Given the description of an element on the screen output the (x, y) to click on. 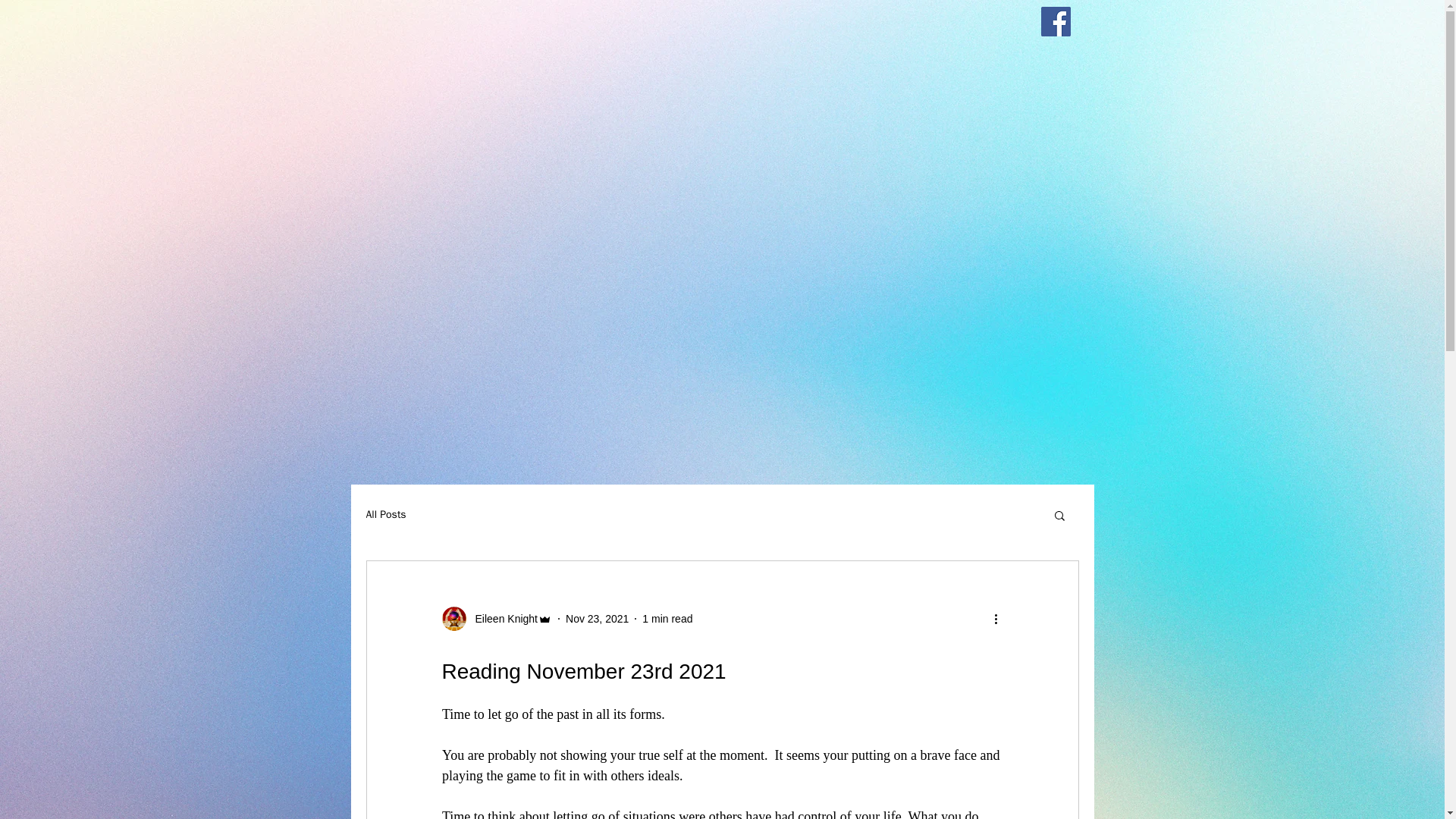
Eileen Knight (501, 618)
1 min read (667, 618)
Eileen Knight (496, 618)
All Posts (385, 514)
Nov 23, 2021 (597, 618)
